Given the description of an element on the screen output the (x, y) to click on. 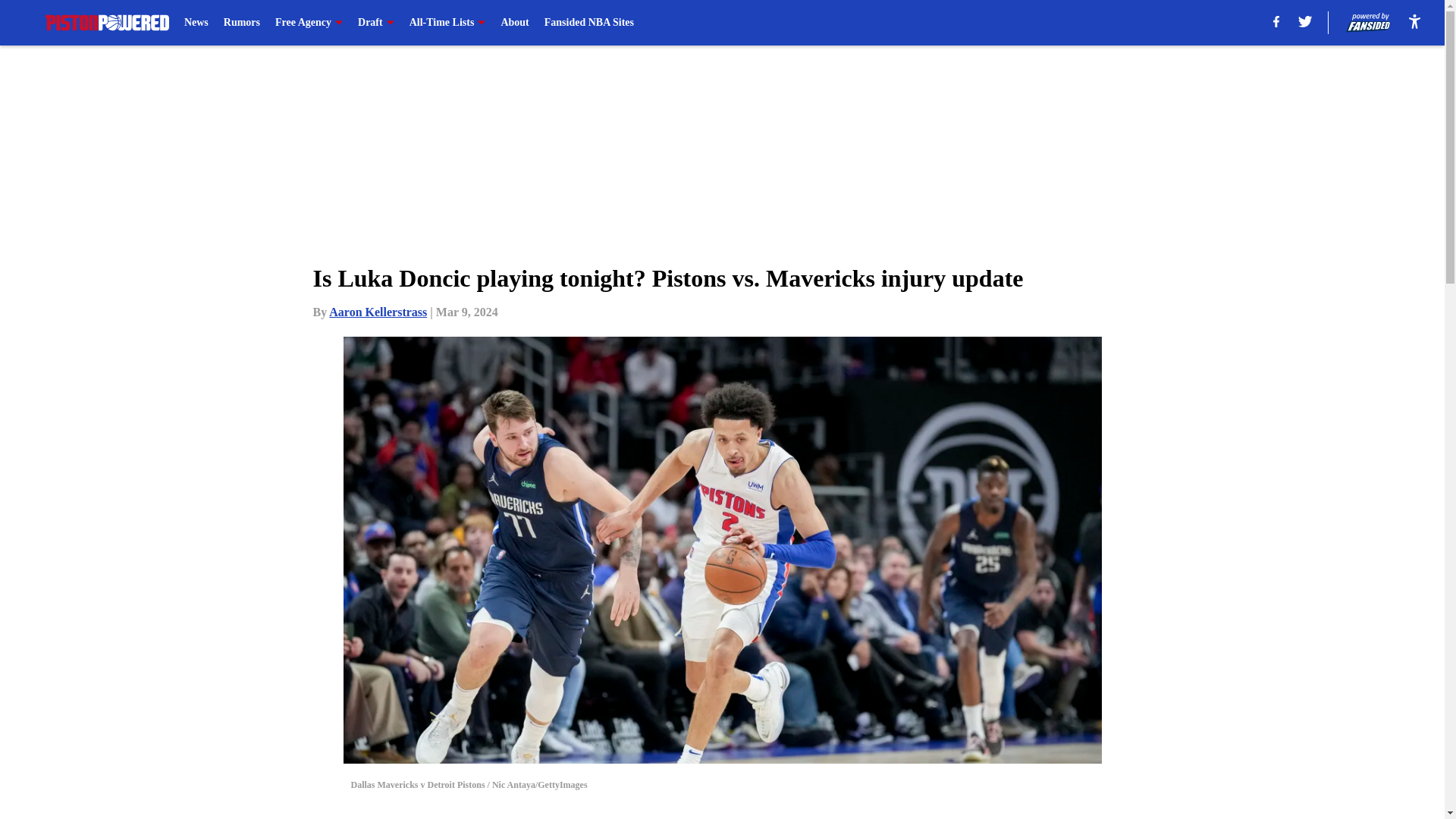
About (514, 22)
News (196, 22)
Draft (376, 22)
Rumors (242, 22)
Aaron Kellerstrass (377, 311)
Fansided NBA Sites (588, 22)
Free Agency (308, 22)
All-Time Lists (447, 22)
